Given the description of an element on the screen output the (x, y) to click on. 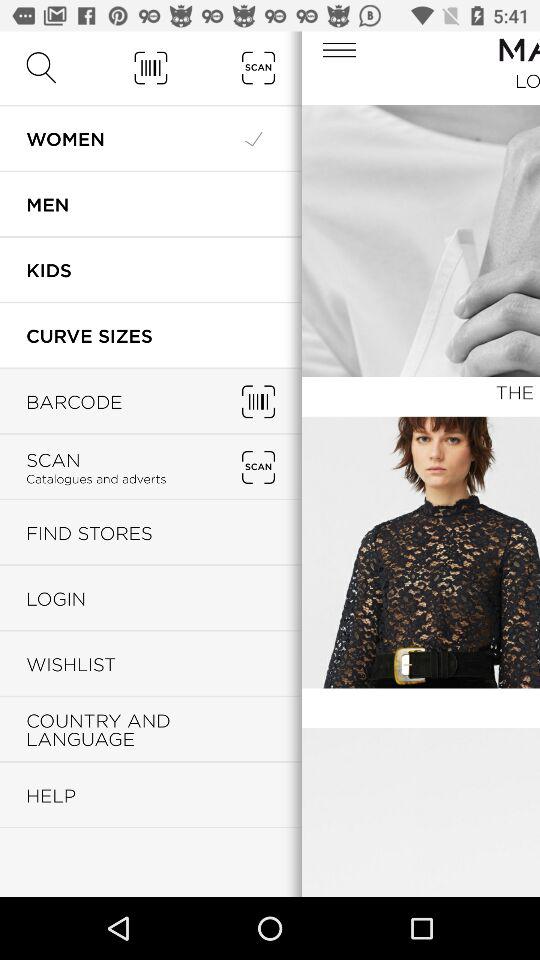
click on the barcode image right next to barcode (258, 401)
click on scan button which is next to scan (258, 467)
